Given the description of an element on the screen output the (x, y) to click on. 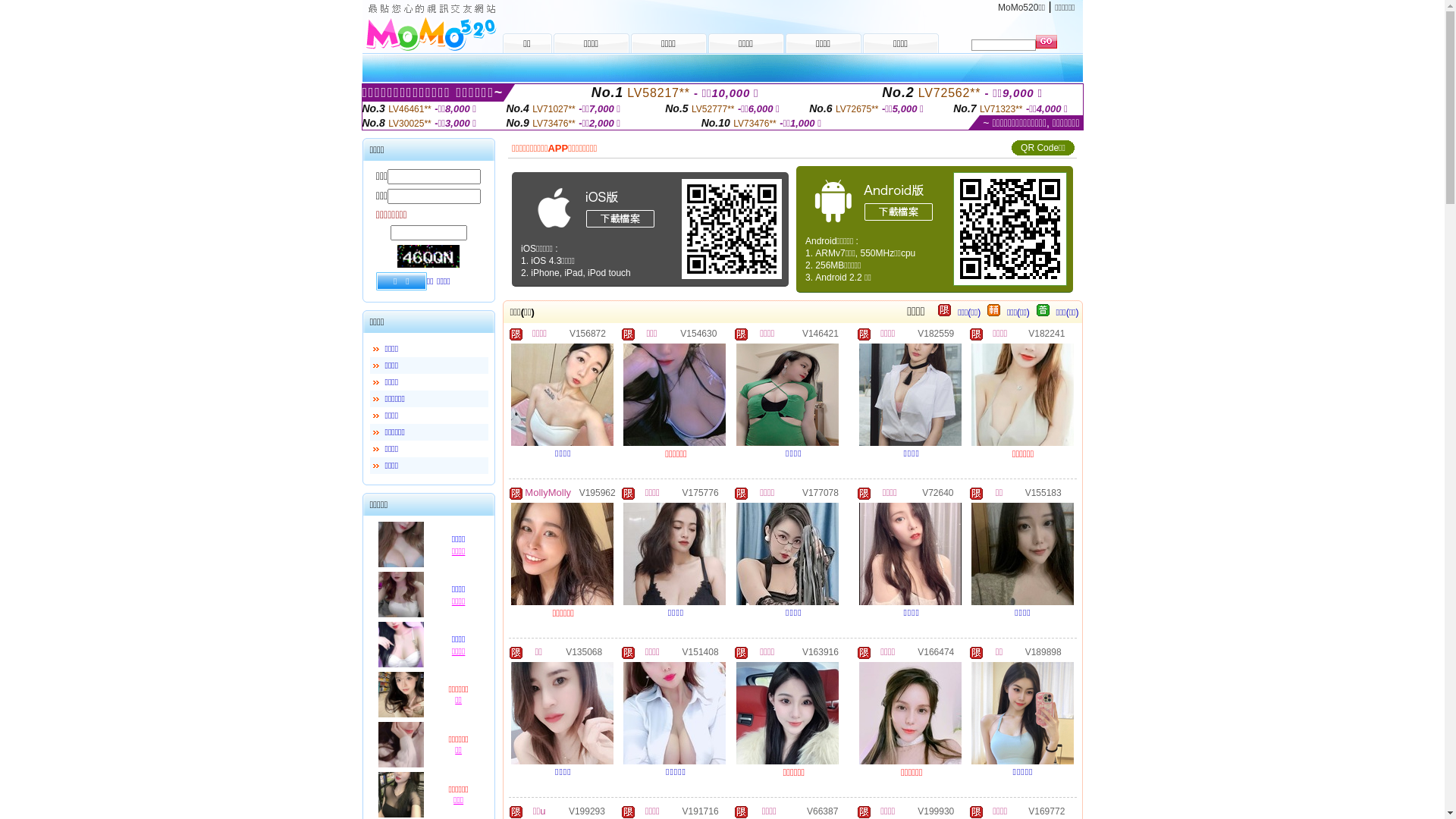
V175776 Element type: text (700, 491)
V195962 Element type: text (597, 491)
MollyMolly Element type: text (547, 492)
V163916 Element type: text (820, 651)
V166474 Element type: text (935, 651)
V155183 Element type: text (1043, 491)
V182559 Element type: text (935, 332)
V154630 Element type: text (698, 332)
V135068 Element type: text (583, 651)
V191716 Element type: text (700, 810)
V156872 Element type: text (587, 332)
V66387 Element type: text (821, 810)
V169772 Element type: text (1046, 810)
V72640 Element type: text (937, 491)
V146421 Element type: text (820, 332)
V189898 Element type: text (1043, 651)
V182241 Element type: text (1046, 332)
V177078 Element type: text (820, 491)
V199293 Element type: text (586, 810)
V199930 Element type: text (935, 810)
V151408 Element type: text (700, 651)
